Given the description of an element on the screen output the (x, y) to click on. 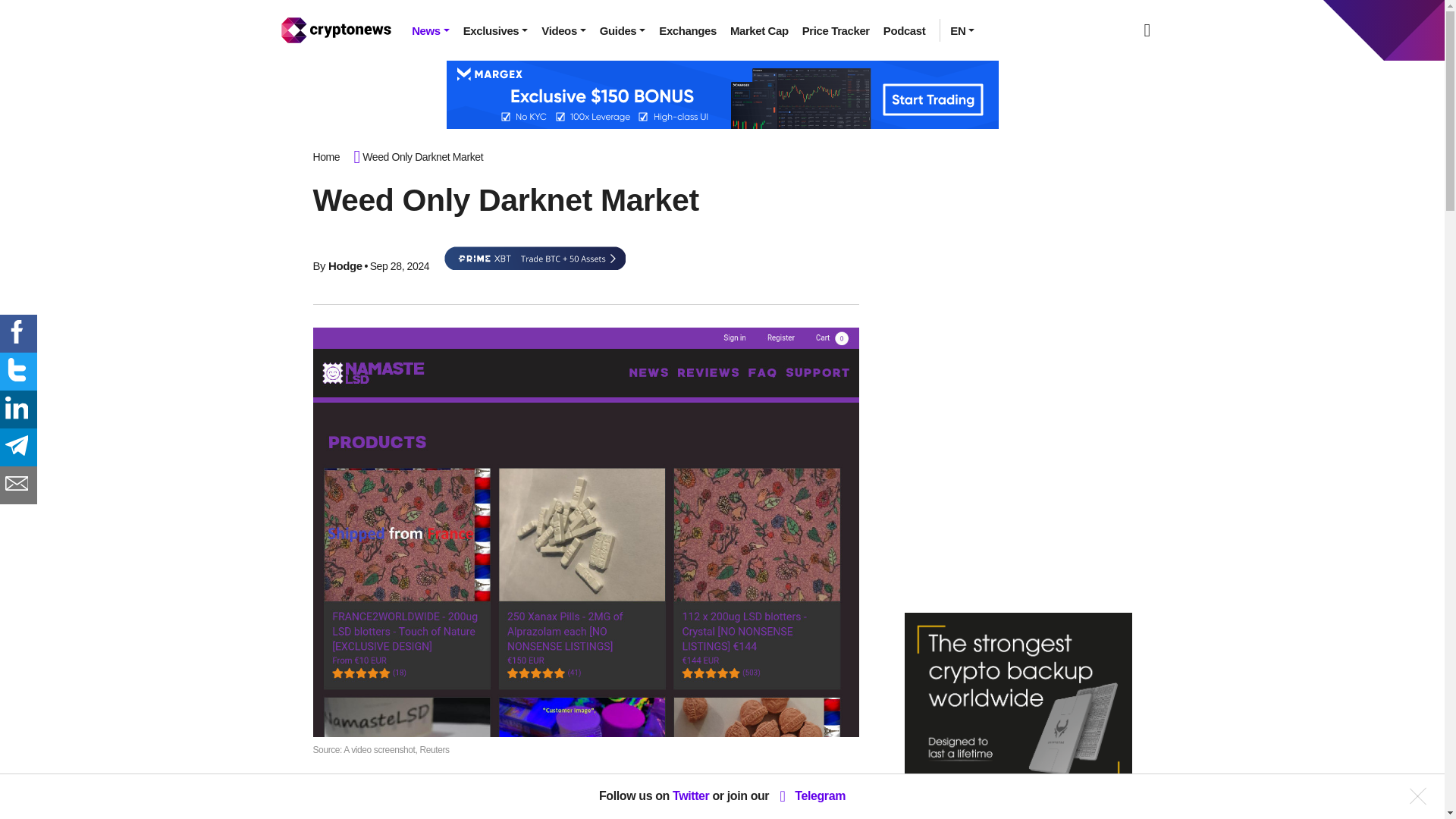
Guides (622, 30)
Exchanges (687, 30)
Videos (563, 30)
Exclusives (496, 30)
Podcast (904, 30)
Price Tracker (835, 30)
Market Cap (758, 30)
